Given the description of an element on the screen output the (x, y) to click on. 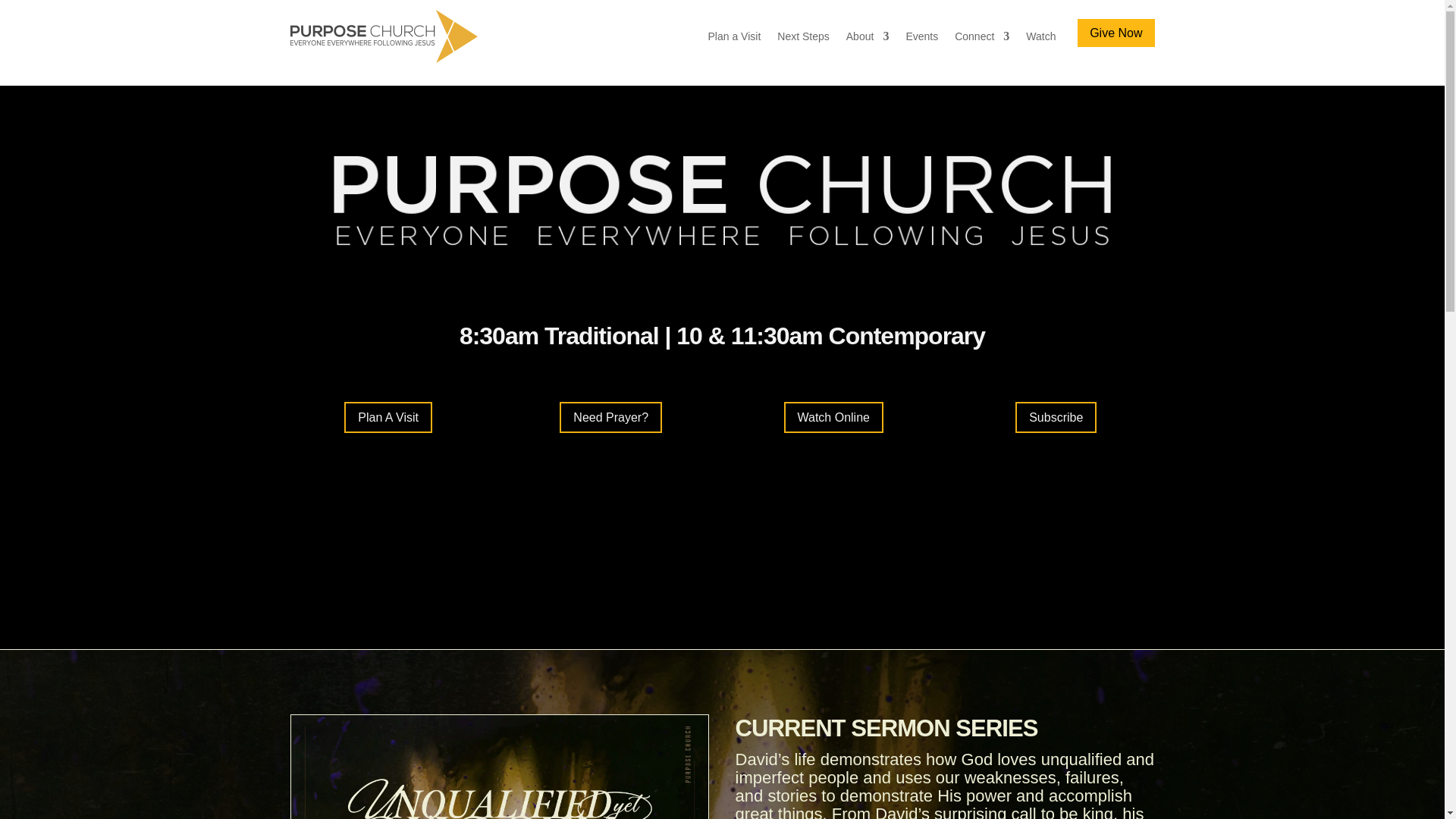
Next Steps (802, 36)
Connect (982, 36)
Plan a Visit (734, 36)
